Given the description of an element on the screen output the (x, y) to click on. 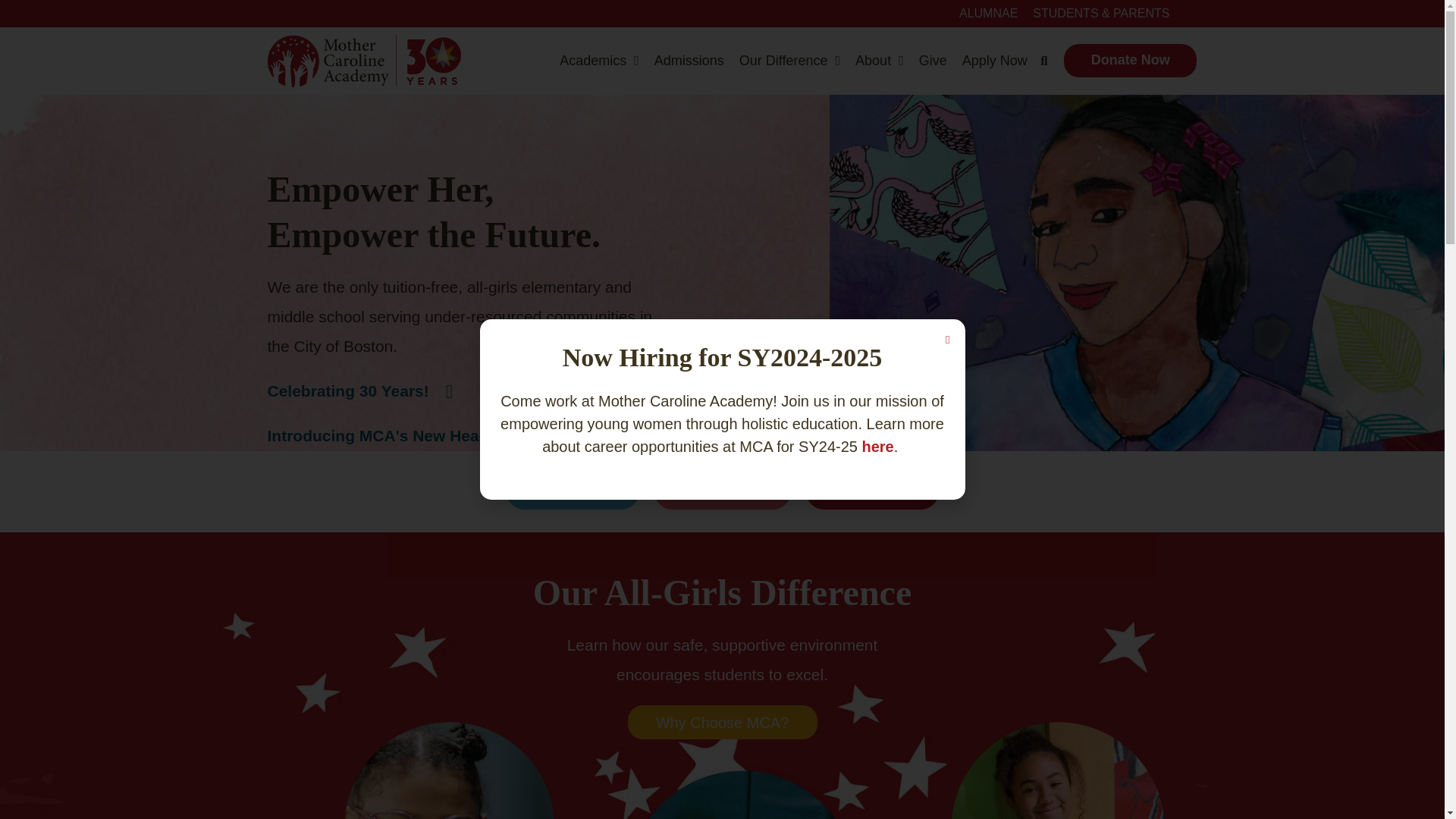
ALUMNAE (988, 13)
Our Difference (789, 60)
Academics (599, 60)
Admissions (688, 60)
Apply Now (994, 60)
About (880, 60)
